Given the description of an element on the screen output the (x, y) to click on. 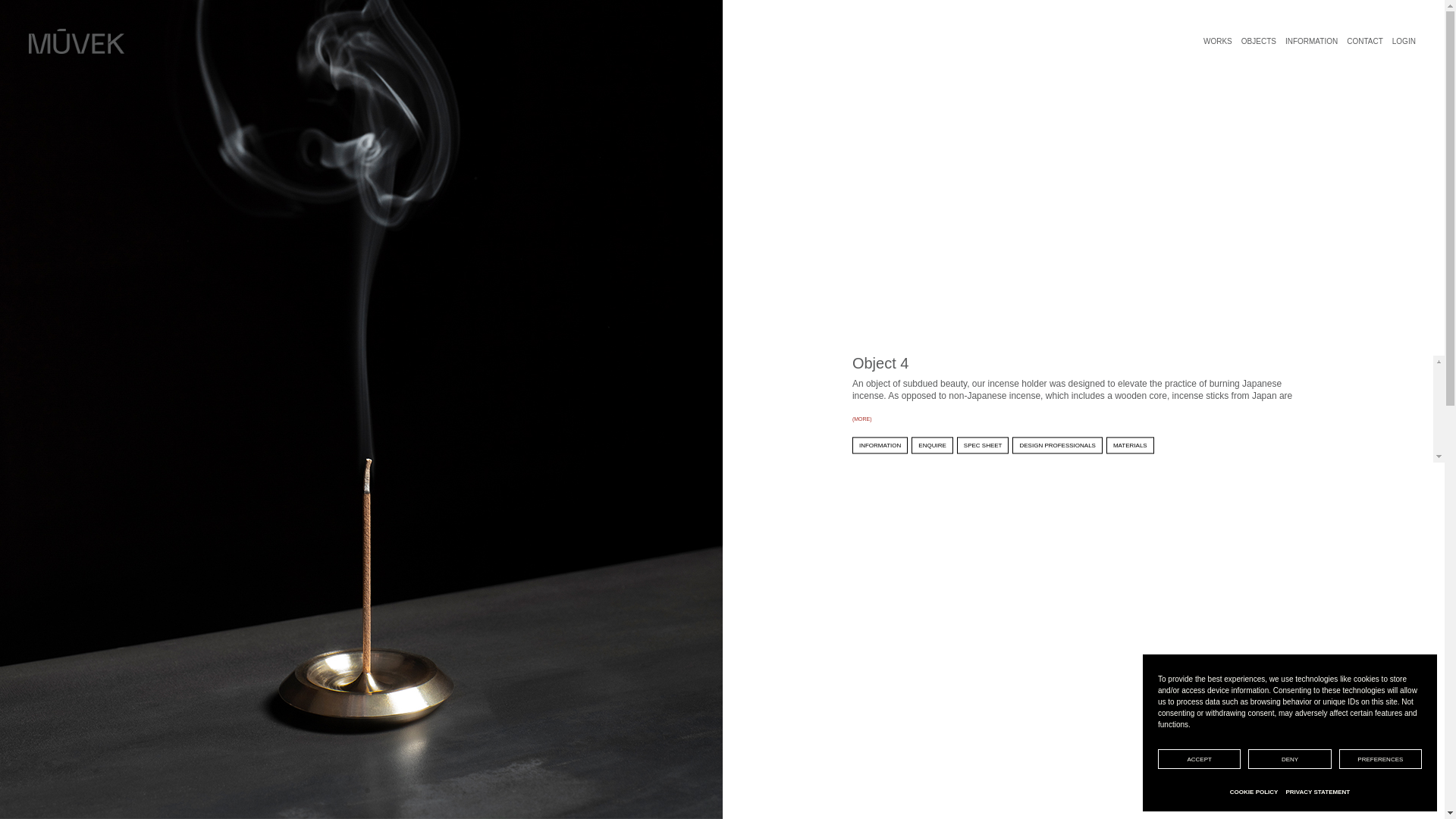
ACCEPT (1198, 759)
WORKS (1217, 44)
PREFERENCES (1380, 759)
DESIGN PROFESSIONALS (1056, 445)
MUVEK Logo (76, 41)
ENQUIRE (931, 445)
INFORMATION (879, 445)
CONTACT (1364, 44)
DENY (1288, 759)
COOKIE POLICY (1254, 791)
SPEC SHEET (982, 445)
OBJECTS (1258, 44)
INFORMATION (1311, 44)
